Given the description of an element on the screen output the (x, y) to click on. 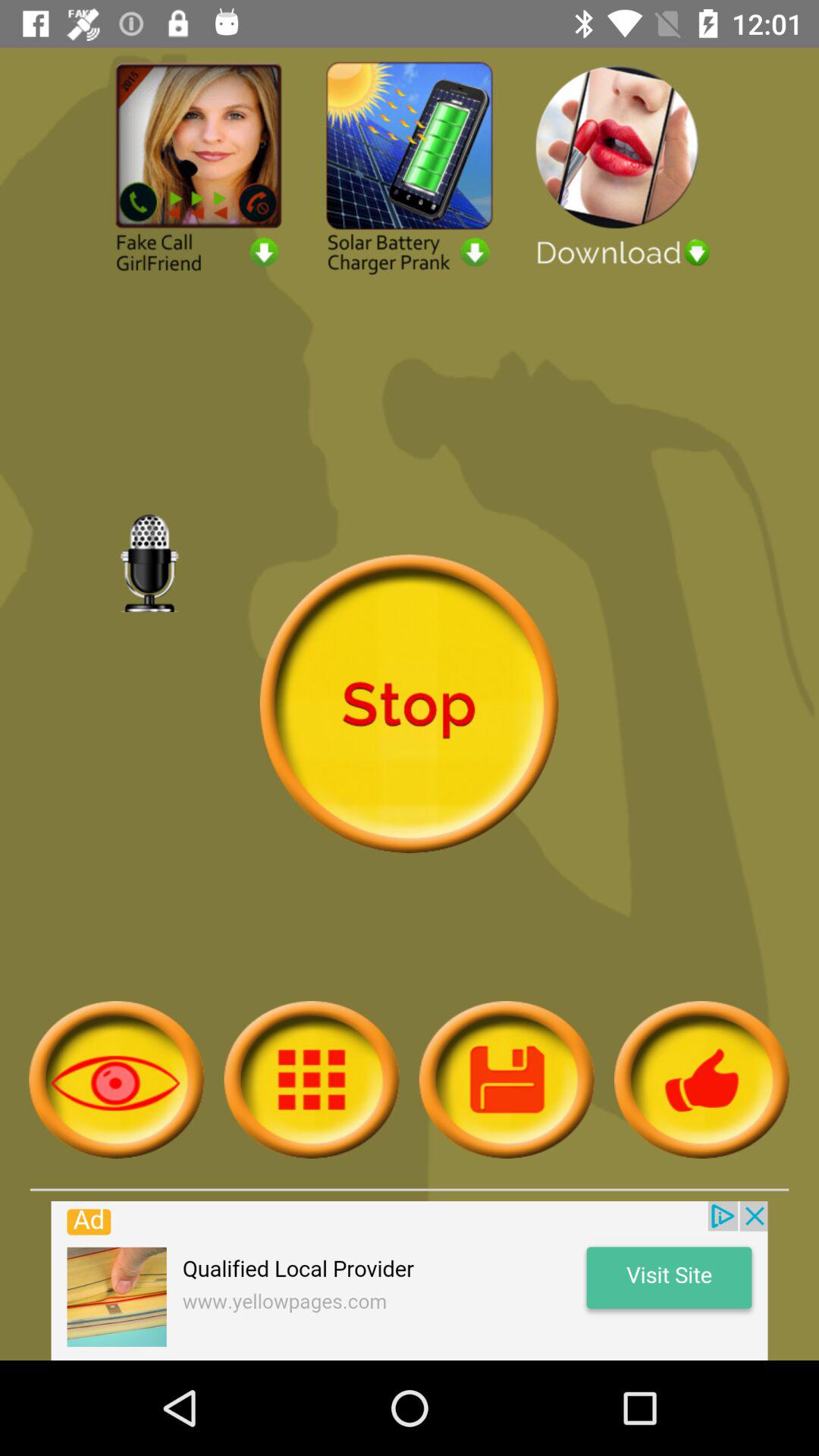
stop recording (408, 703)
